Given the description of an element on the screen output the (x, y) to click on. 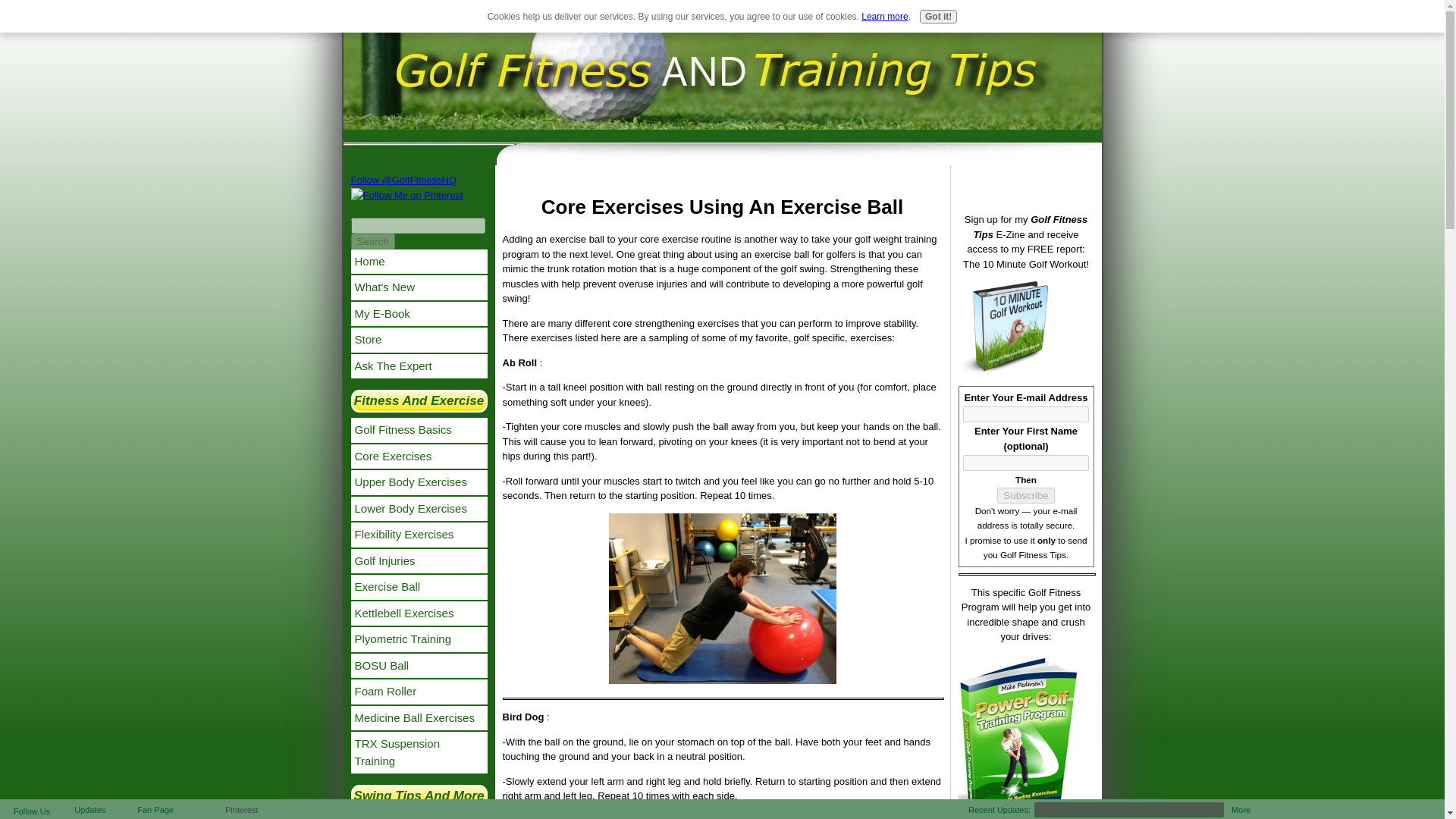
Flexibility Exercises (418, 534)
What's New (653, 25)
Medicine Ball Exercises (418, 717)
Golf Injuries (418, 561)
Ask The Expert (418, 365)
TRX Suspension Training (418, 752)
E-Zine (699, 25)
Subscribe (1025, 495)
Exercise Ball (418, 586)
My E-Book (418, 314)
Contact Me (791, 25)
Upper Body Exercises (418, 482)
Search (372, 241)
Golf Fitness Basics (418, 430)
Kettlebell Exercises (418, 612)
